Given the description of an element on the screen output the (x, y) to click on. 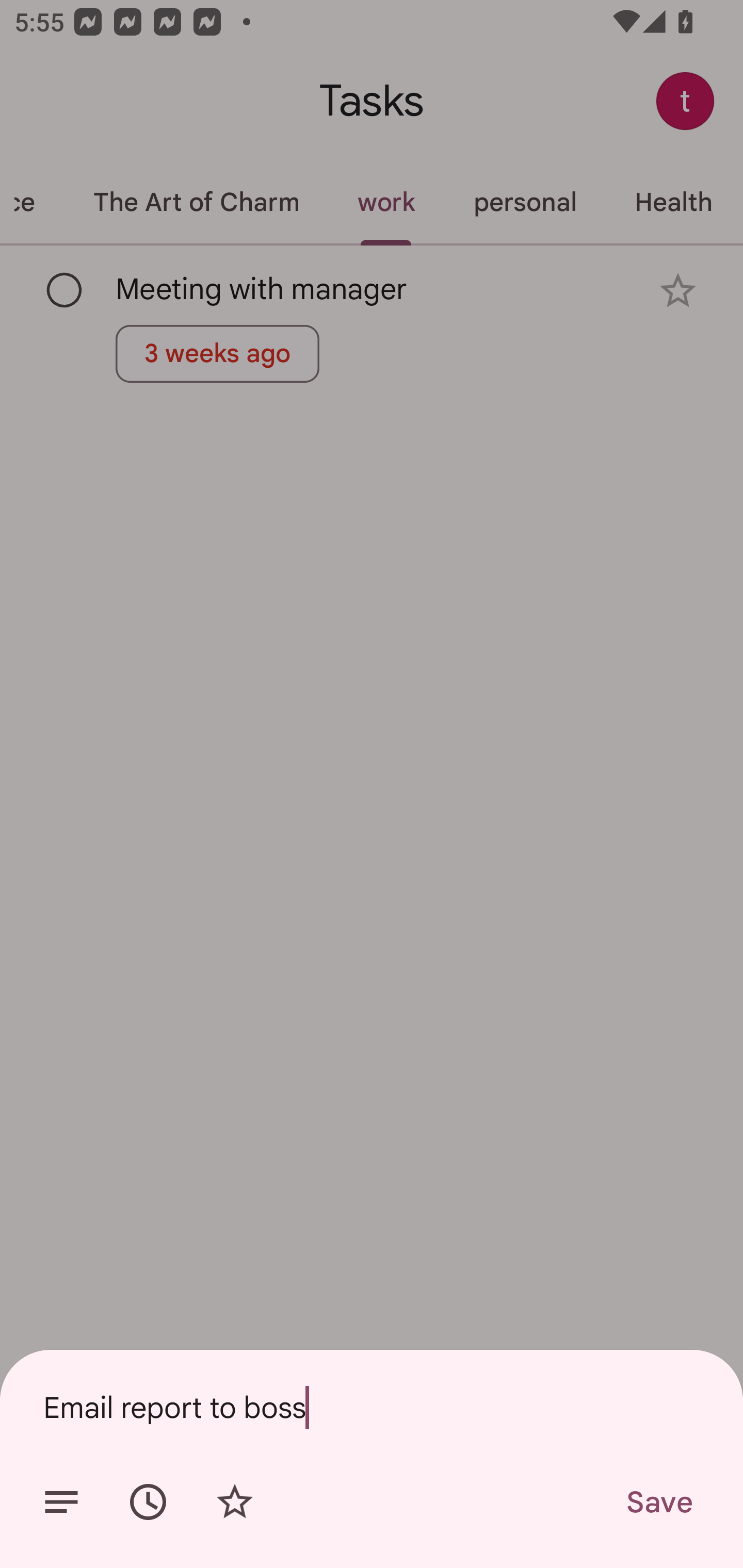
Email report to boss (371, 1407)
Save (659, 1501)
Add details (60, 1501)
Set date/time (147, 1501)
Add star (234, 1501)
